Given the description of an element on the screen output the (x, y) to click on. 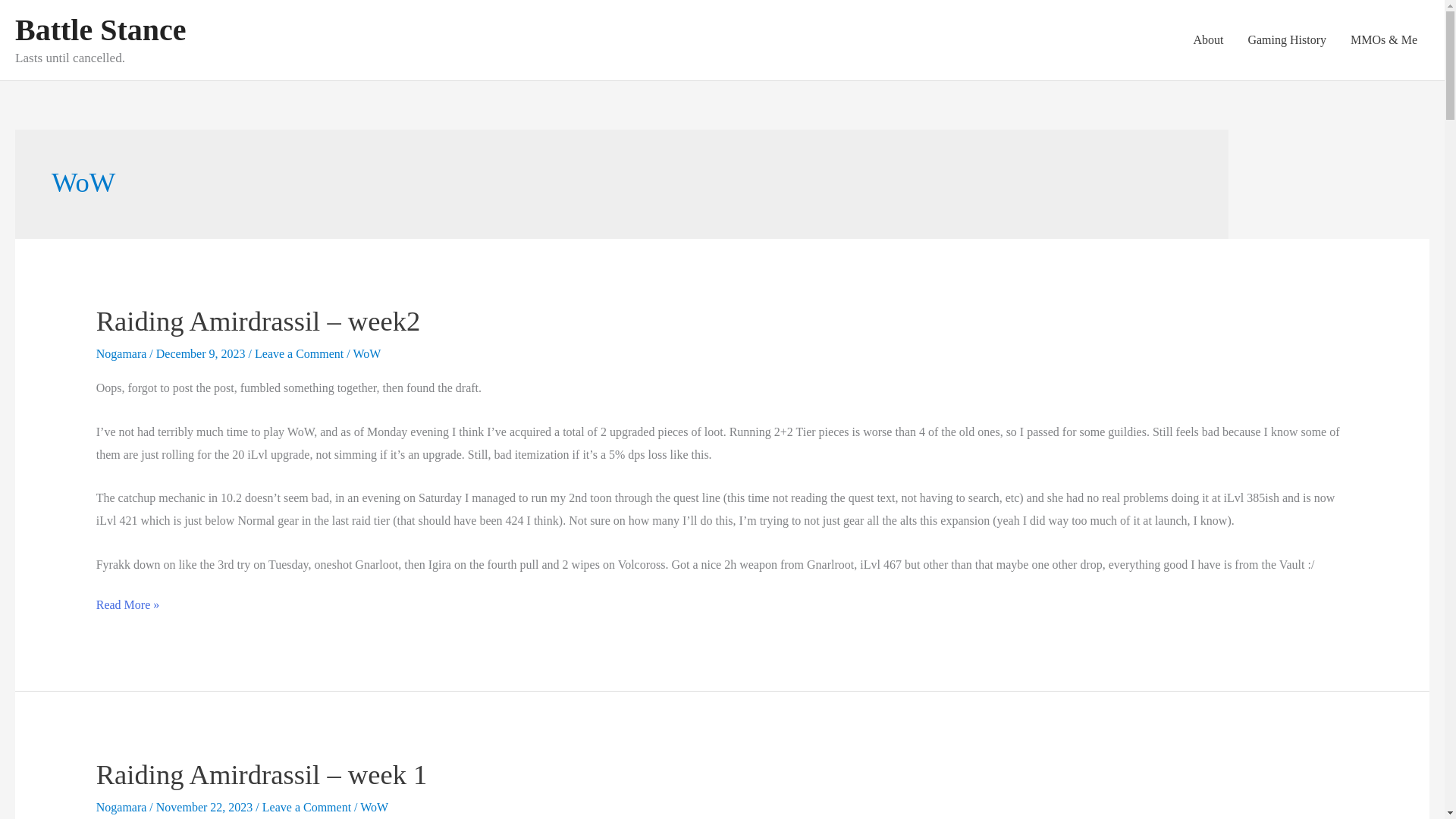
Nogamara (122, 353)
Leave a Comment (306, 807)
Battle Stance (100, 29)
View all posts by Nogamara (122, 353)
View all posts by Nogamara (122, 807)
Gaming History (1286, 40)
WoW (366, 353)
Leave a Comment (298, 353)
WoW (373, 807)
Nogamara (122, 807)
